Given the description of an element on the screen output the (x, y) to click on. 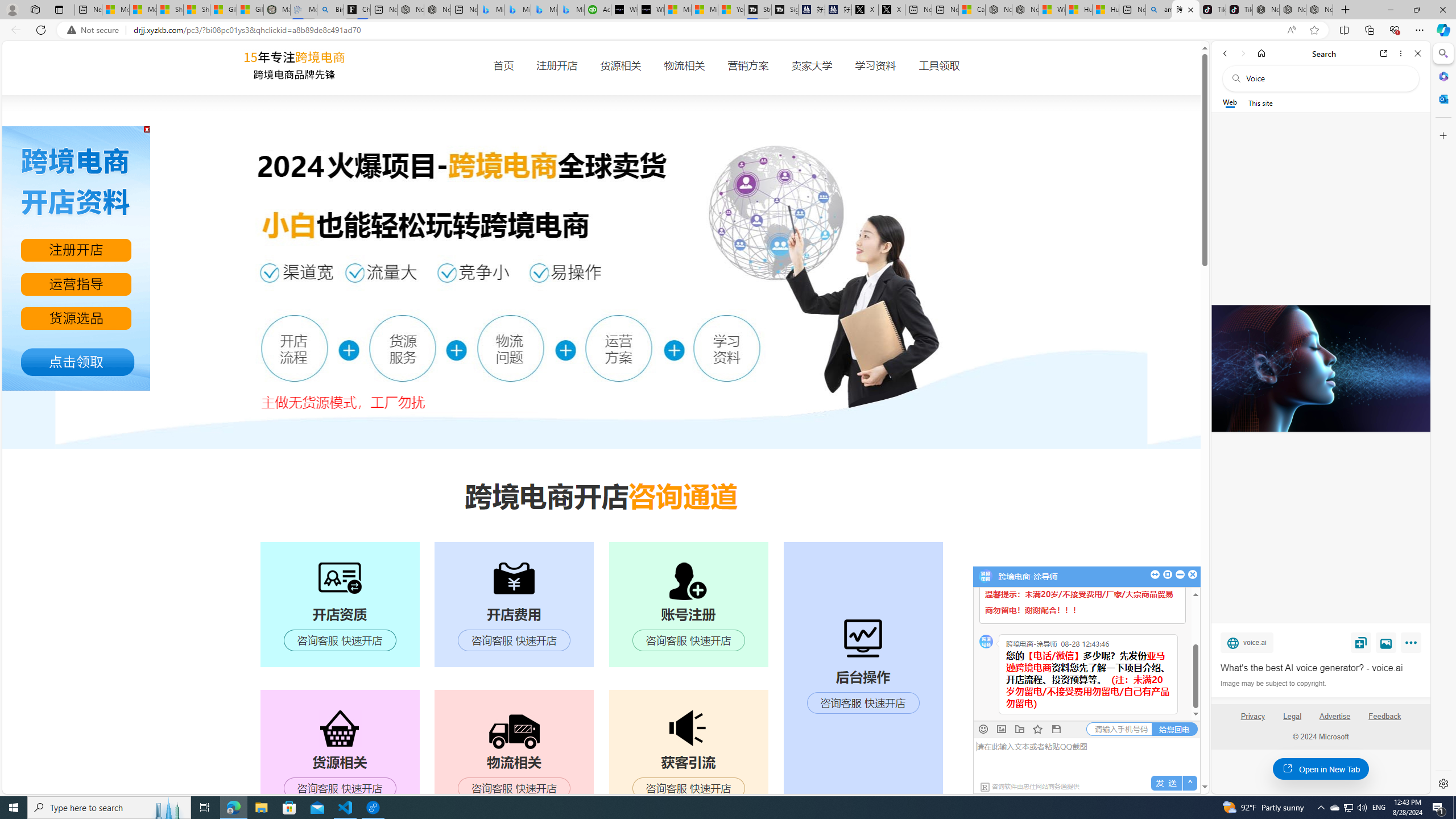
Nordace Siena Pro 15 Backpack (1292, 9)
Not secure (95, 29)
Microsoft Bing Travel - Stays in Bangkok, Bangkok, Thailand (517, 9)
